Given the description of an element on the screen output the (x, y) to click on. 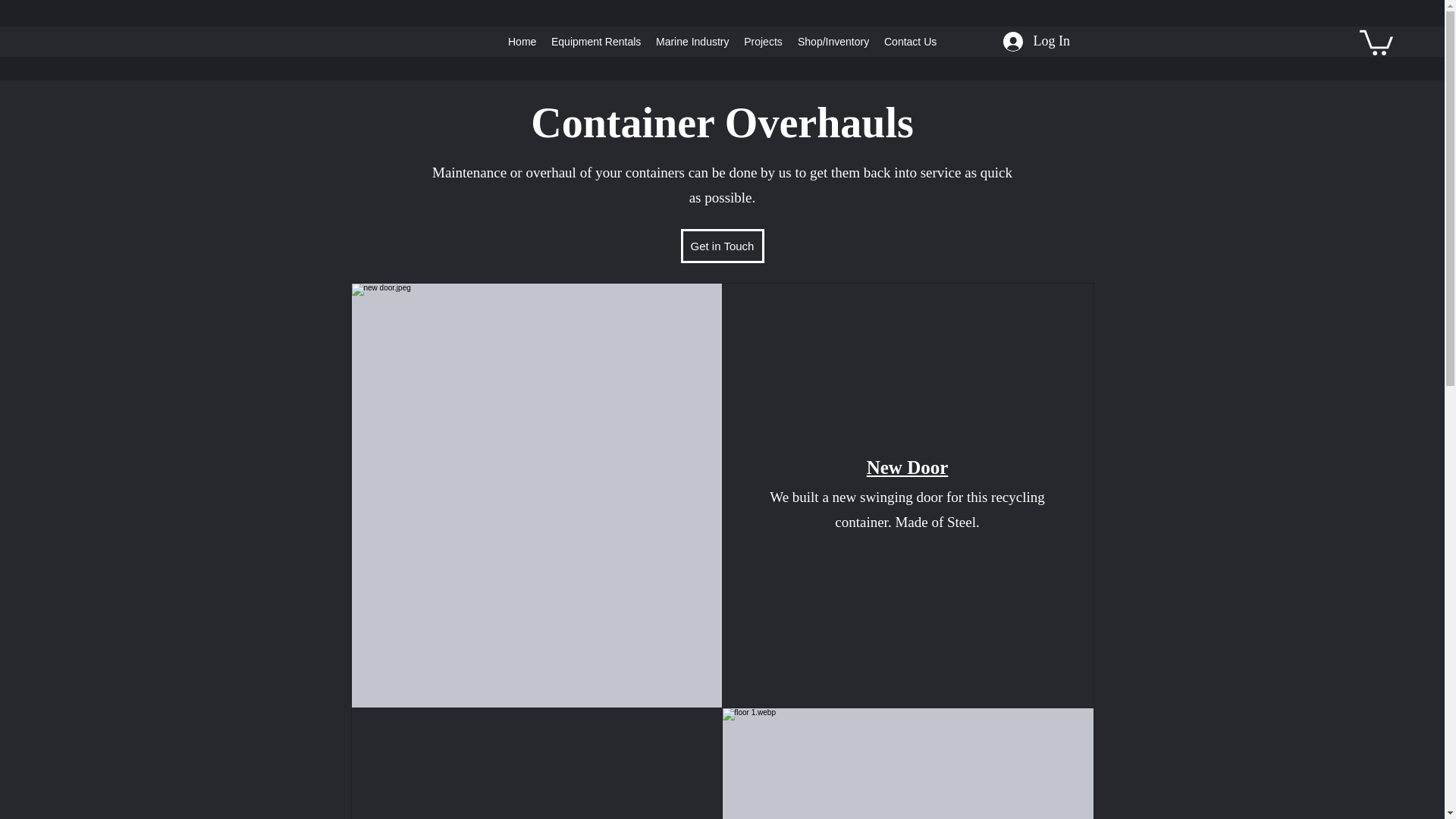
Marine Industry (691, 41)
Projects (763, 41)
Home (521, 41)
Equipment Rentals (595, 41)
